Given the description of an element on the screen output the (x, y) to click on. 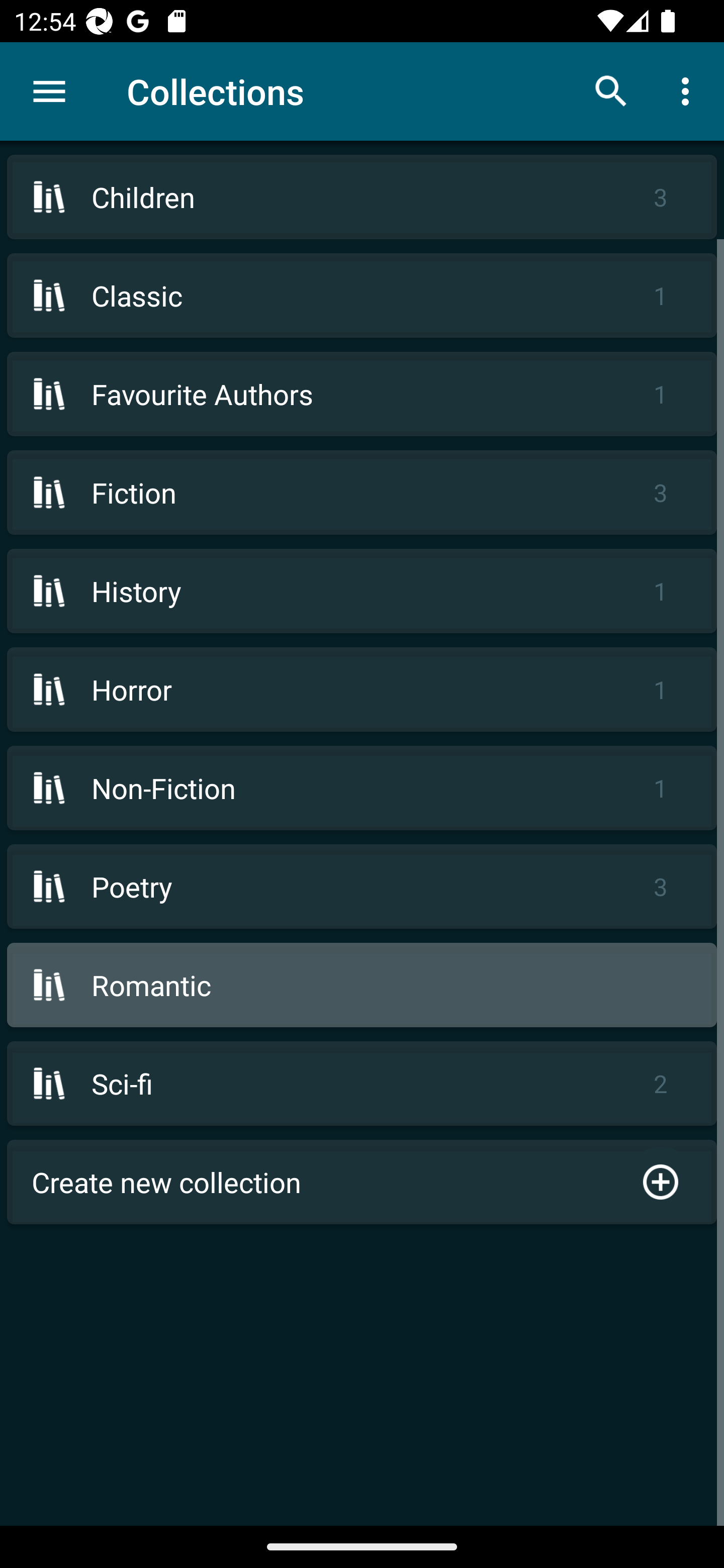
Menu (49, 91)
Search books & documents (611, 90)
More options (688, 90)
Children 3 (361, 197)
Classic 1 (361, 295)
Favourite Authors 1 (361, 393)
Fiction 3 (361, 492)
History 1 (361, 590)
Horror 1 (361, 689)
Non-Fiction 1 (361, 787)
Poetry 3 (361, 885)
Romantic (361, 984)
Sci-fi 2 (361, 1083)
Create new collection (361, 1181)
